Given the description of an element on the screen output the (x, y) to click on. 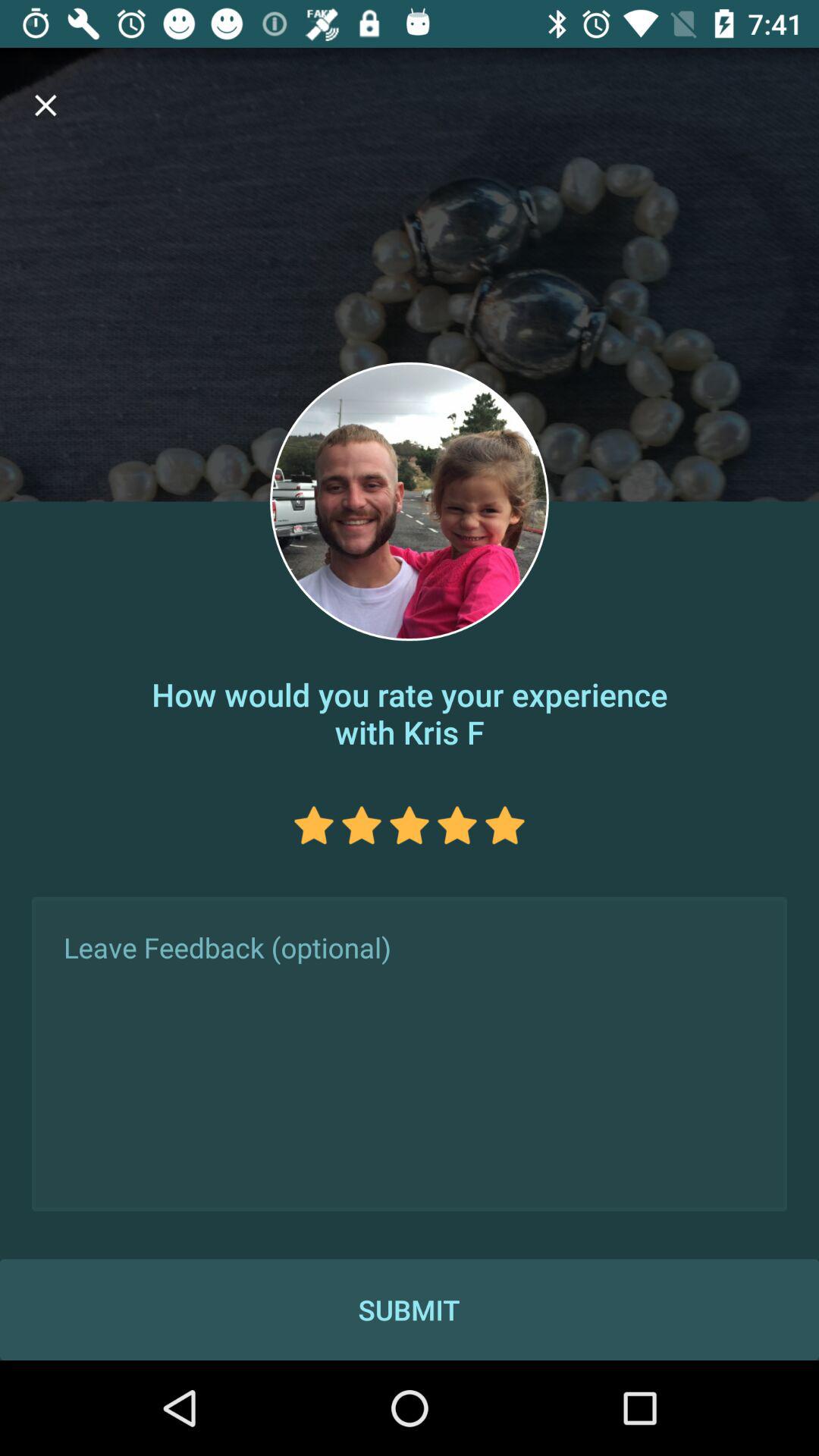
five star (504, 825)
